Given the description of an element on the screen output the (x, y) to click on. 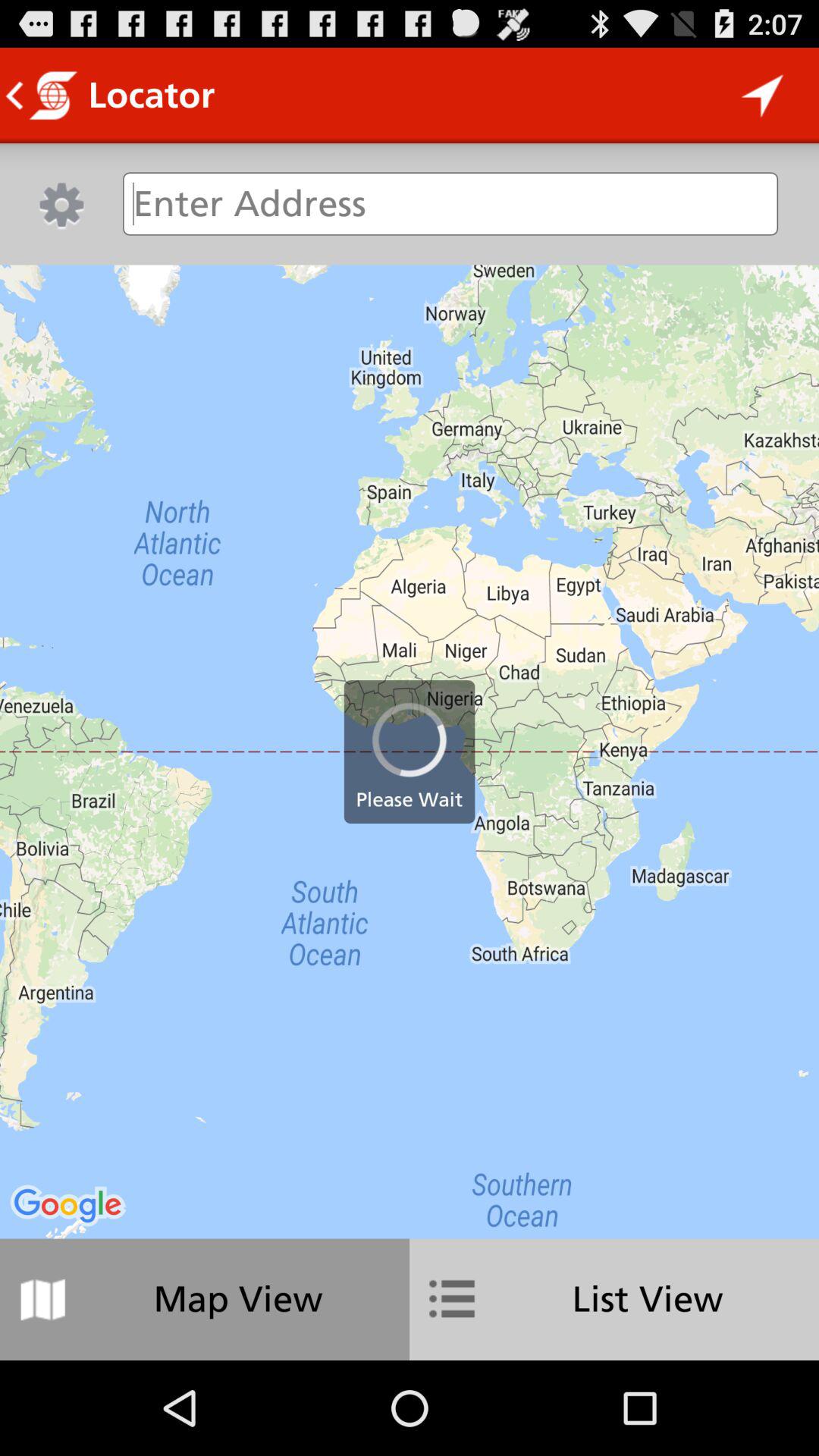
flip until the list view item (614, 1299)
